Given the description of an element on the screen output the (x, y) to click on. 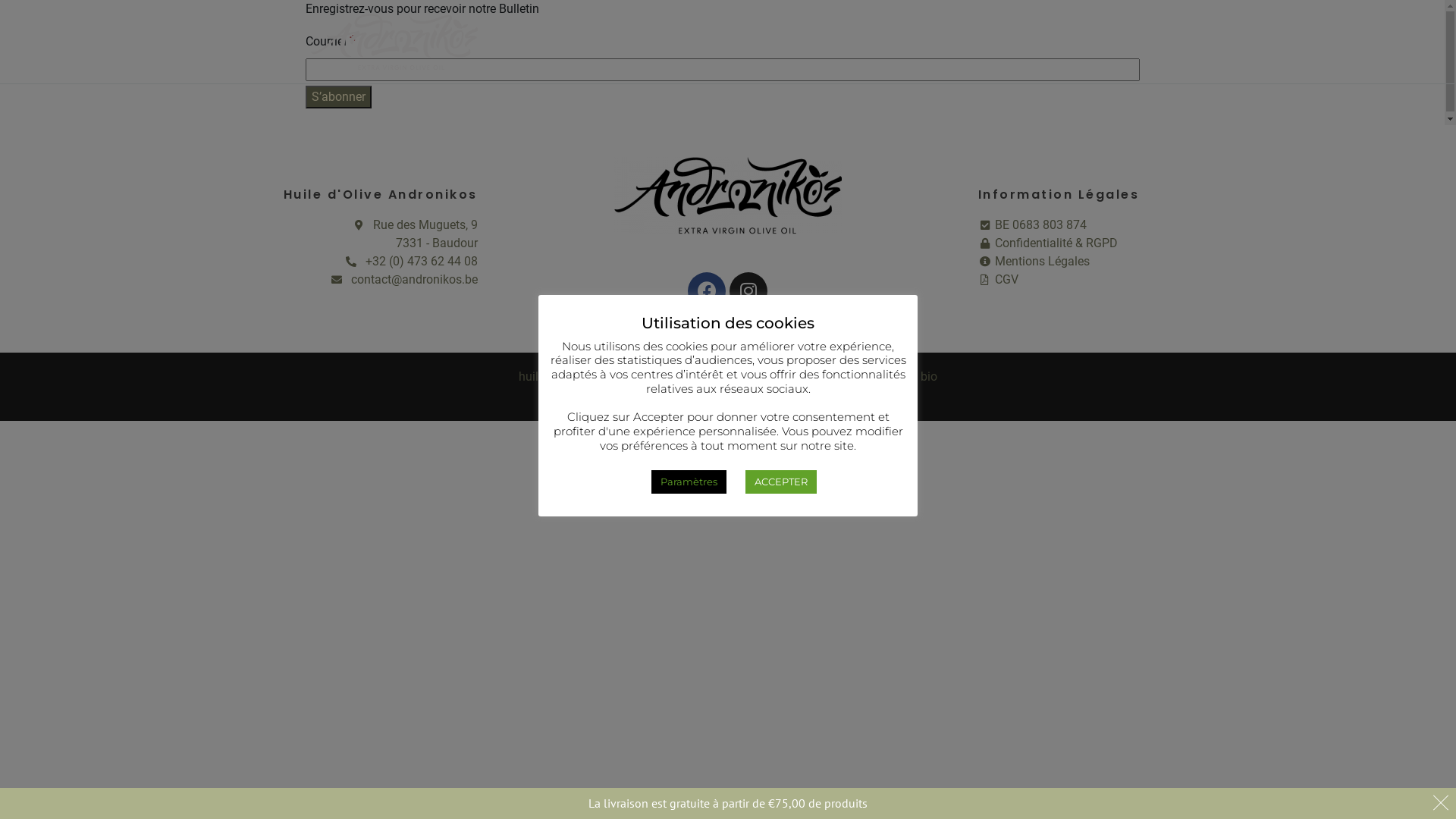
SHOP Element type: text (678, 41)
CGV Element type: text (1213, 279)
INSPIRATION Element type: text (826, 41)
+32 (0) 473 62 44 08 Element type: text (410, 261)
HISTOIRE Element type: text (605, 41)
huile olive extra vierge Element type: text (676, 376)
huile olive grecque Element type: text (799, 376)
POINTS DE VENTE Element type: text (948, 41)
contact@andronikos.be Element type: text (403, 279)
0 Element type: text (1130, 41)
CONTACT Element type: text (1060, 41)
huile olive bio Element type: text (900, 376)
HUILE Element type: text (741, 41)
ACCEPTER Element type: text (779, 481)
